Given the description of an element on the screen output the (x, y) to click on. 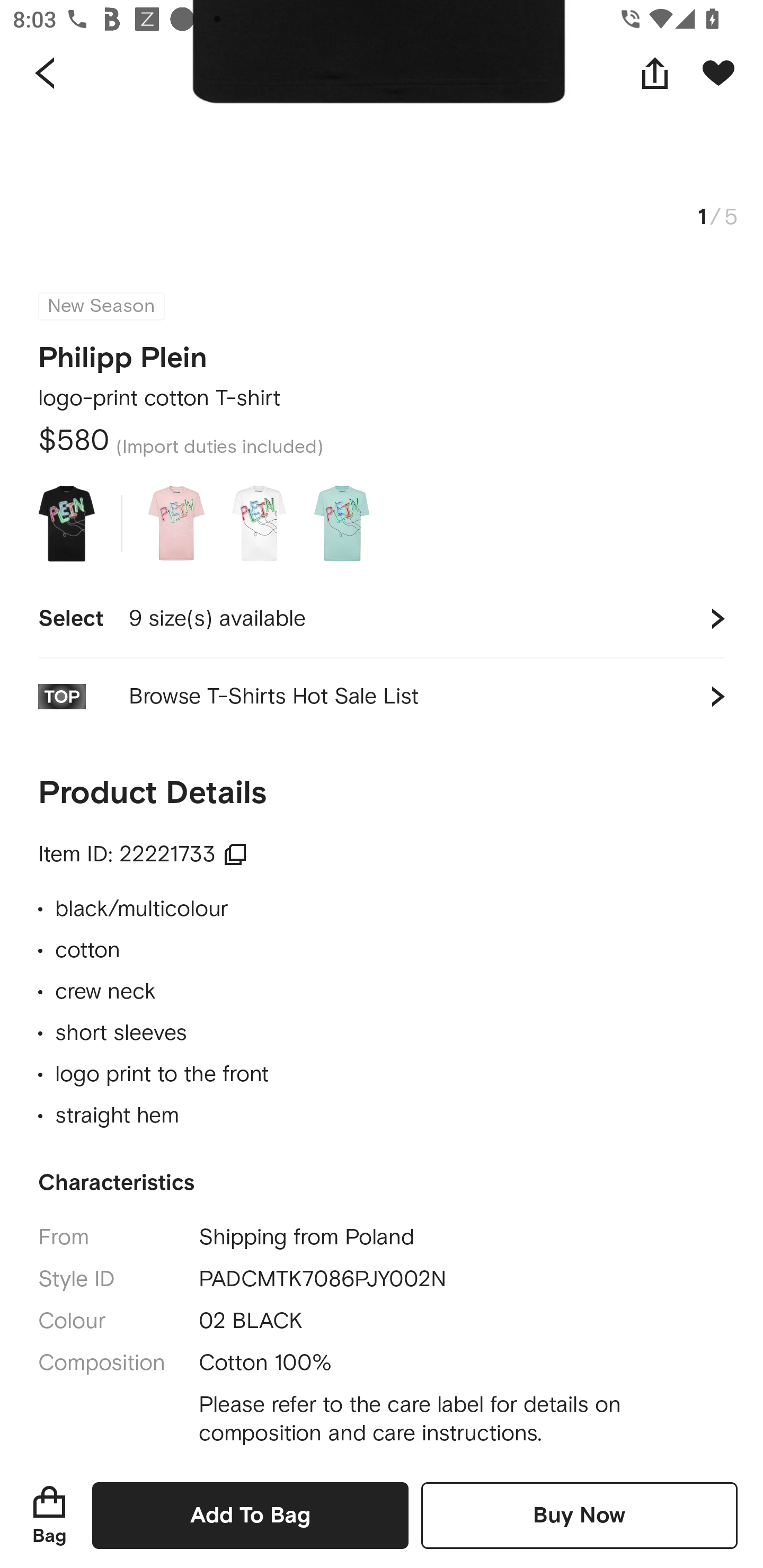
Philipp Plein (122, 351)
Select 9 size(s) available (381, 618)
Browse T-Shirts Hot Sale List (381, 696)
Item ID: 22221733 (142, 854)
Bag (49, 1515)
Add To Bag (250, 1515)
Buy Now (579, 1515)
